Given the description of an element on the screen output the (x, y) to click on. 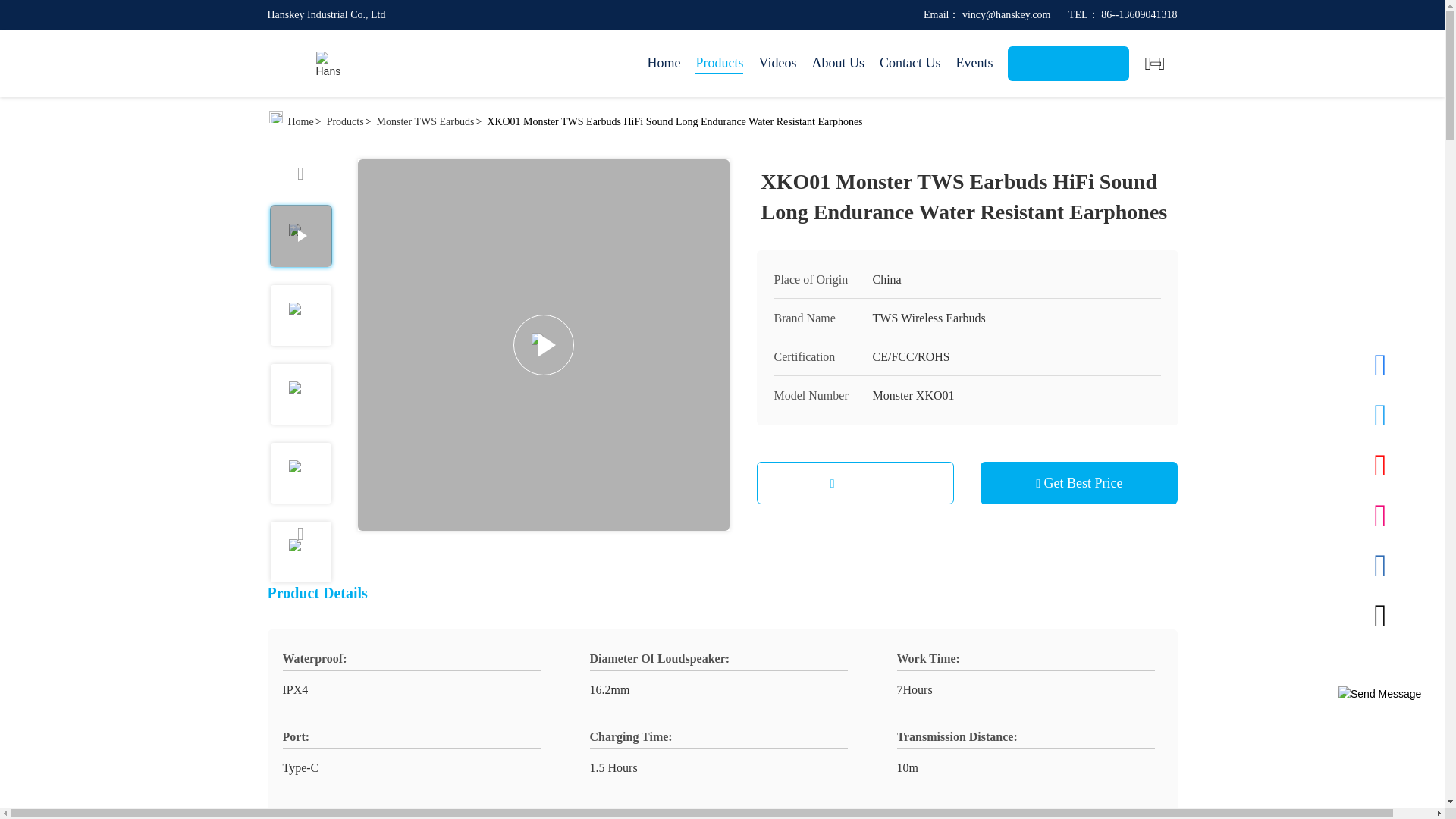
Contact Us (909, 63)
Home (662, 63)
Events (973, 63)
Videos (777, 63)
About Us (837, 63)
Products (718, 63)
Home (327, 63)
Request A Quote (1068, 63)
